Given the description of an element on the screen output the (x, y) to click on. 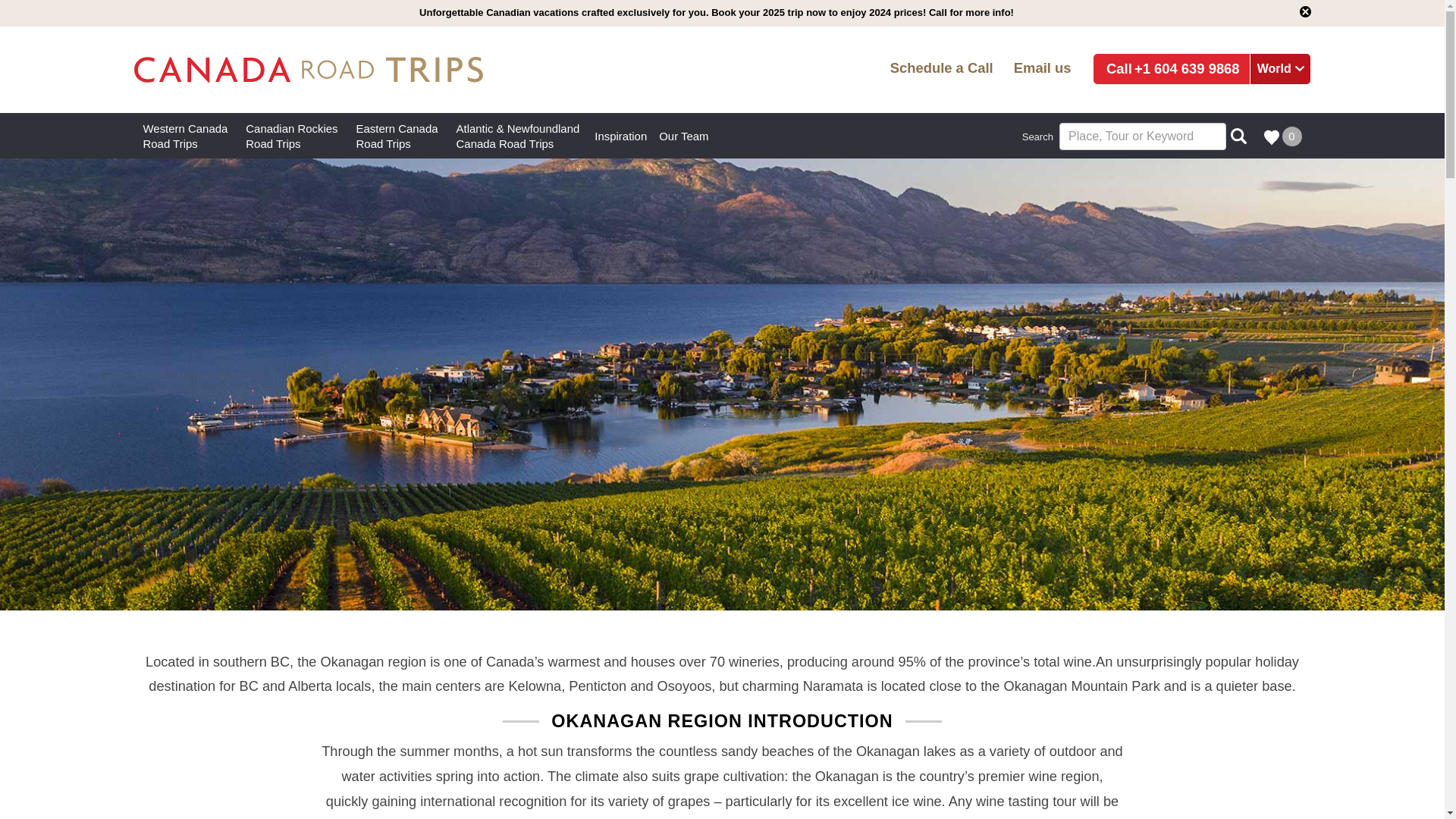
Inspiration (620, 135)
0 (1283, 135)
Schedule a Call (396, 135)
Our Team (184, 135)
Canada Road Trip (941, 69)
World (683, 135)
Email us (290, 135)
